Given the description of an element on the screen output the (x, y) to click on. 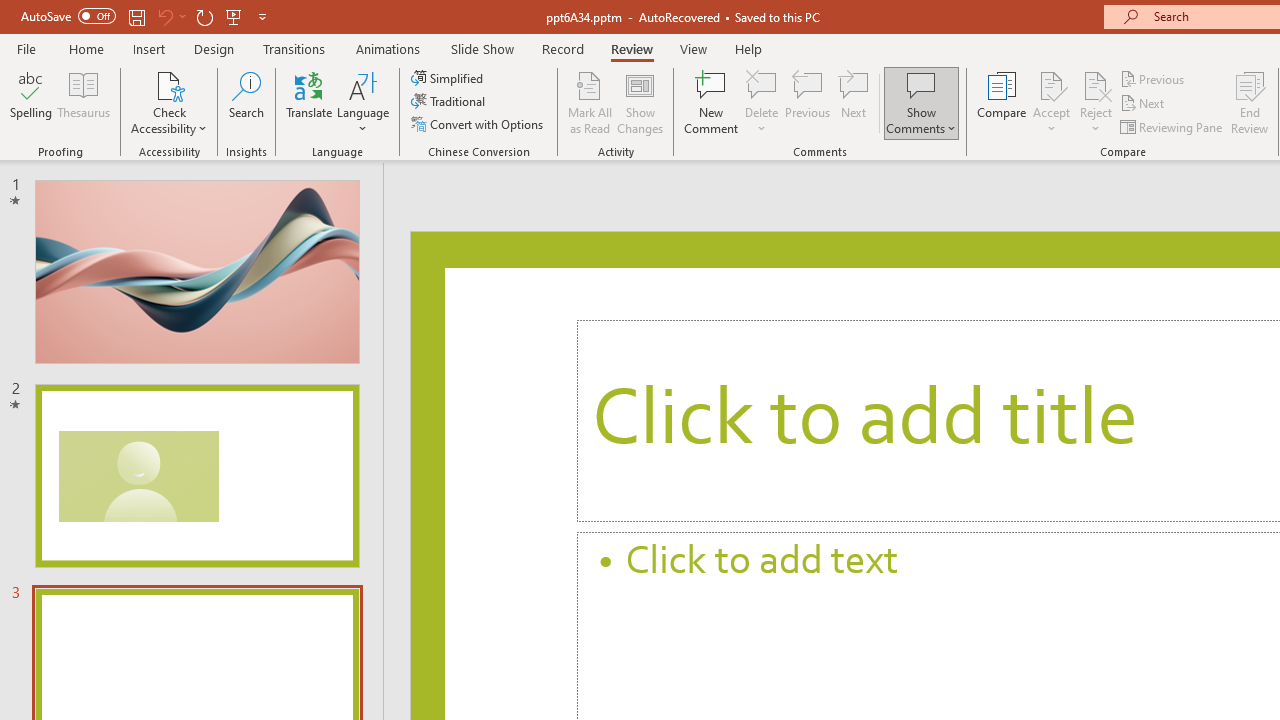
Language (363, 102)
Show Changes (639, 102)
Mark All as Read (589, 102)
New Comment (711, 102)
Convert with Options... (479, 124)
